Given the description of an element on the screen output the (x, y) to click on. 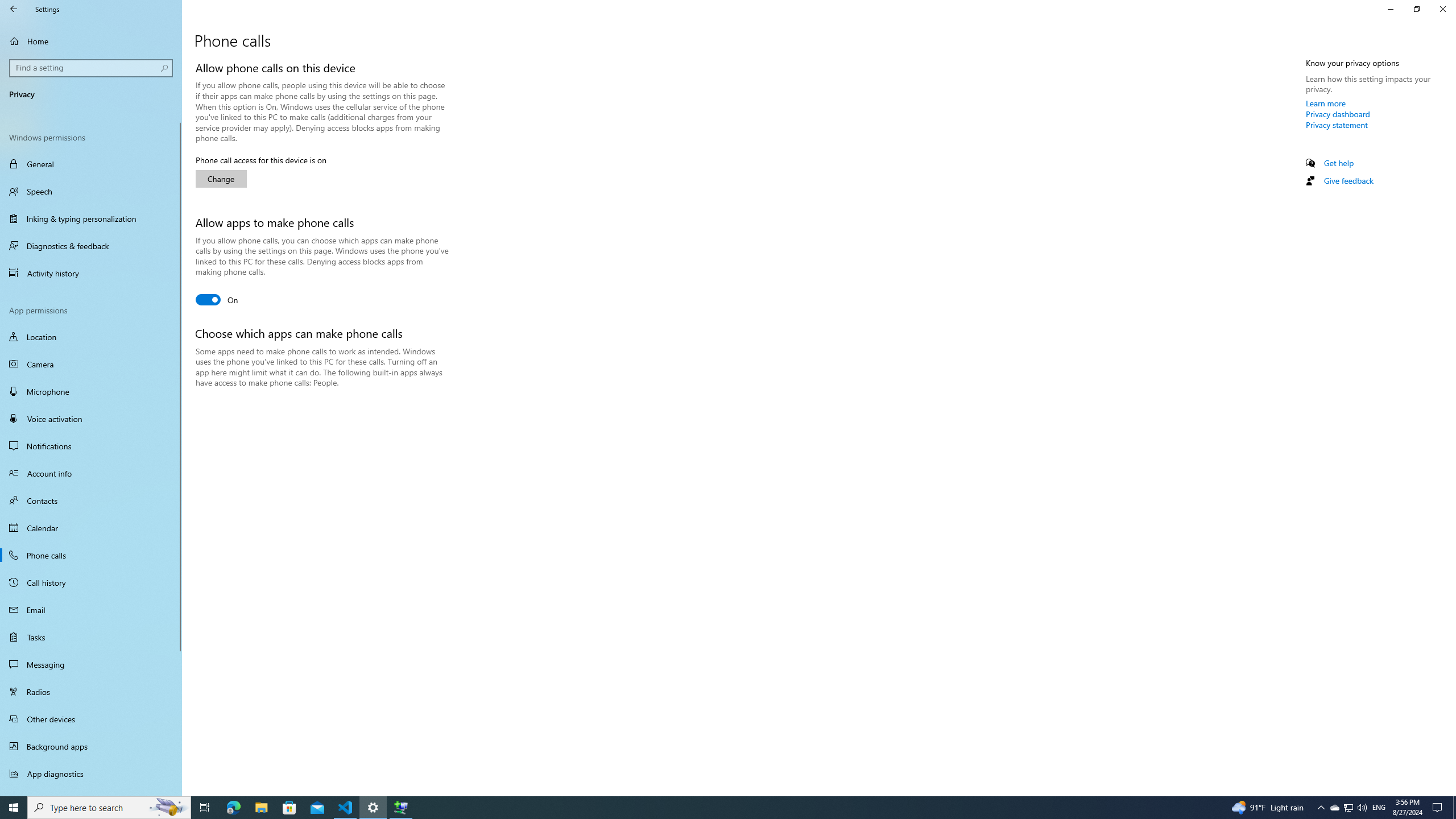
Extensible Wizards Host Process - 1 running window (400, 807)
Tasks (91, 636)
Microsoft Store (289, 807)
Task View (204, 807)
Speech (91, 190)
Running applications (706, 807)
Get help (1338, 162)
Call history (91, 582)
Give feedback (1348, 180)
Account info (91, 472)
Messaging (91, 664)
Start (13, 807)
File Explorer (261, 807)
Contacts (91, 500)
Minimize Settings (1390, 9)
